Given the description of an element on the screen output the (x, y) to click on. 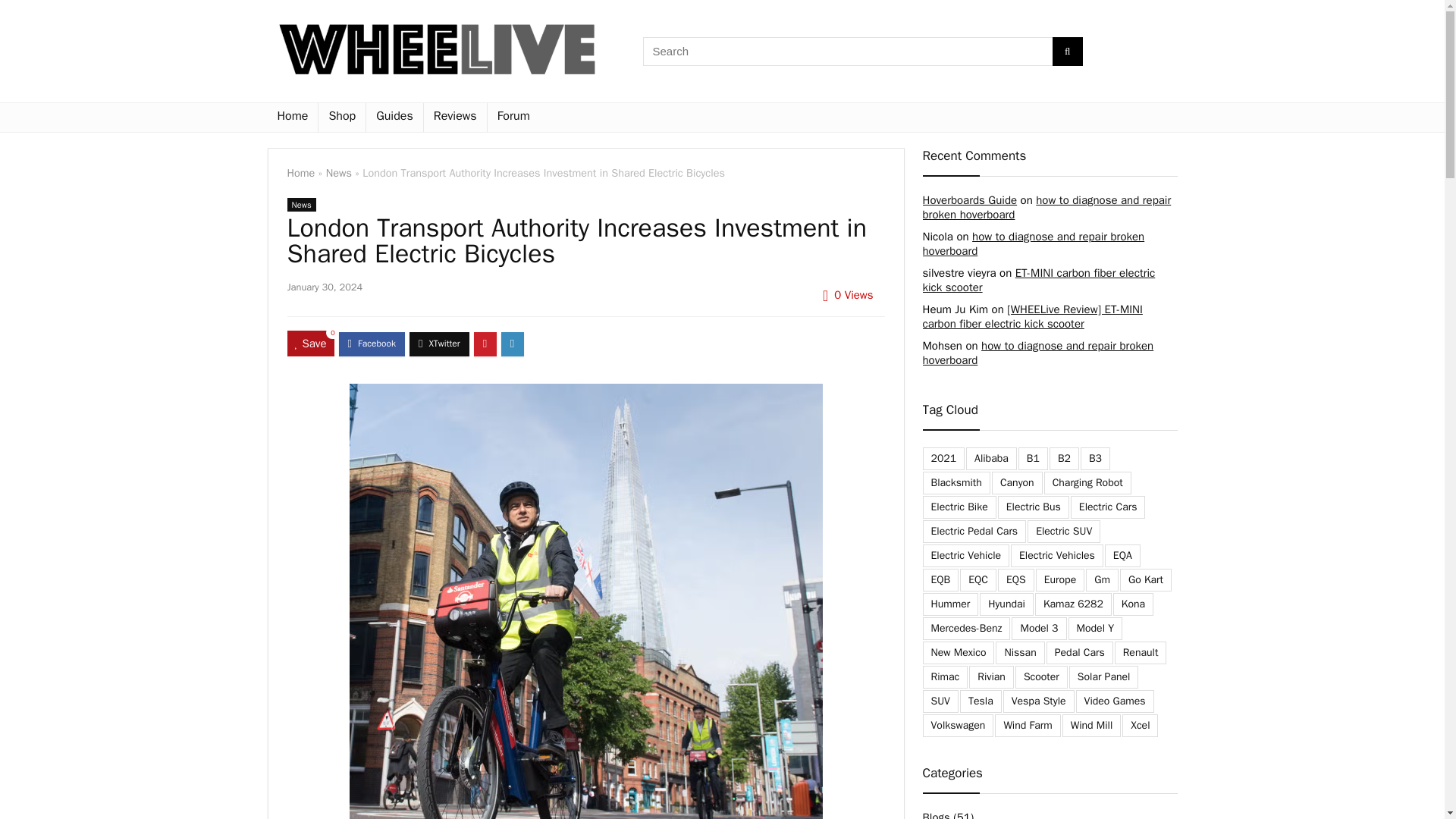
how to diagnose and repair broken hoverboard (1037, 352)
News (339, 172)
how to diagnose and repair broken hoverboard (1045, 207)
View all posts in News (300, 204)
B2 (1063, 458)
how to diagnose and repair broken hoverboard (1032, 243)
ET-MINI carbon fiber electric kick scooter (1037, 280)
Guides (394, 117)
Hoverboards Guide (968, 200)
Reviews (454, 117)
